Given the description of an element on the screen output the (x, y) to click on. 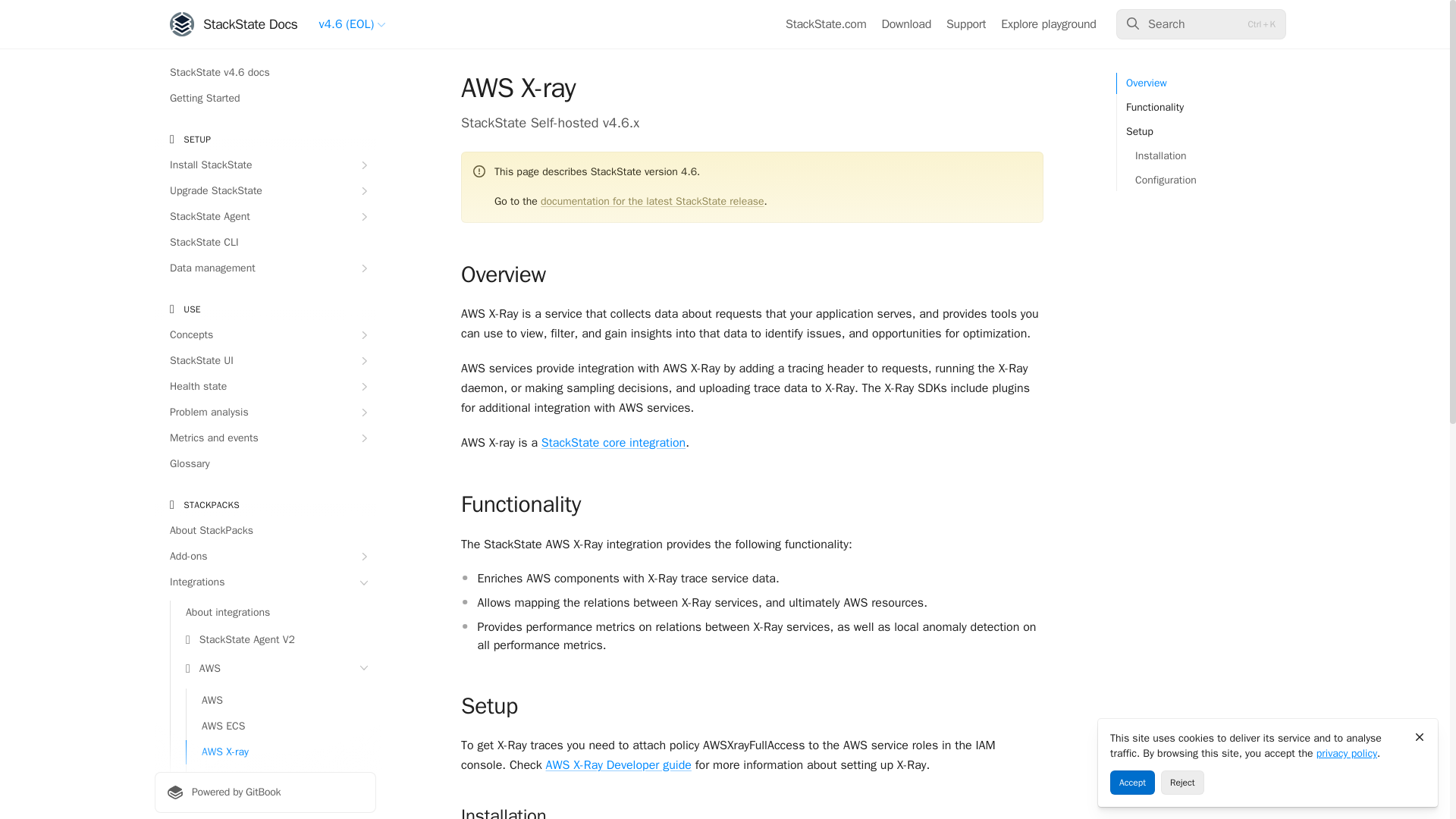
Install StackState (264, 165)
Download (906, 24)
StackState Docs (233, 24)
Getting Started (264, 98)
StackState v4.6 docs (264, 72)
Close (1419, 737)
StackState.com (826, 24)
Explore playground (1048, 24)
